Given the description of an element on the screen output the (x, y) to click on. 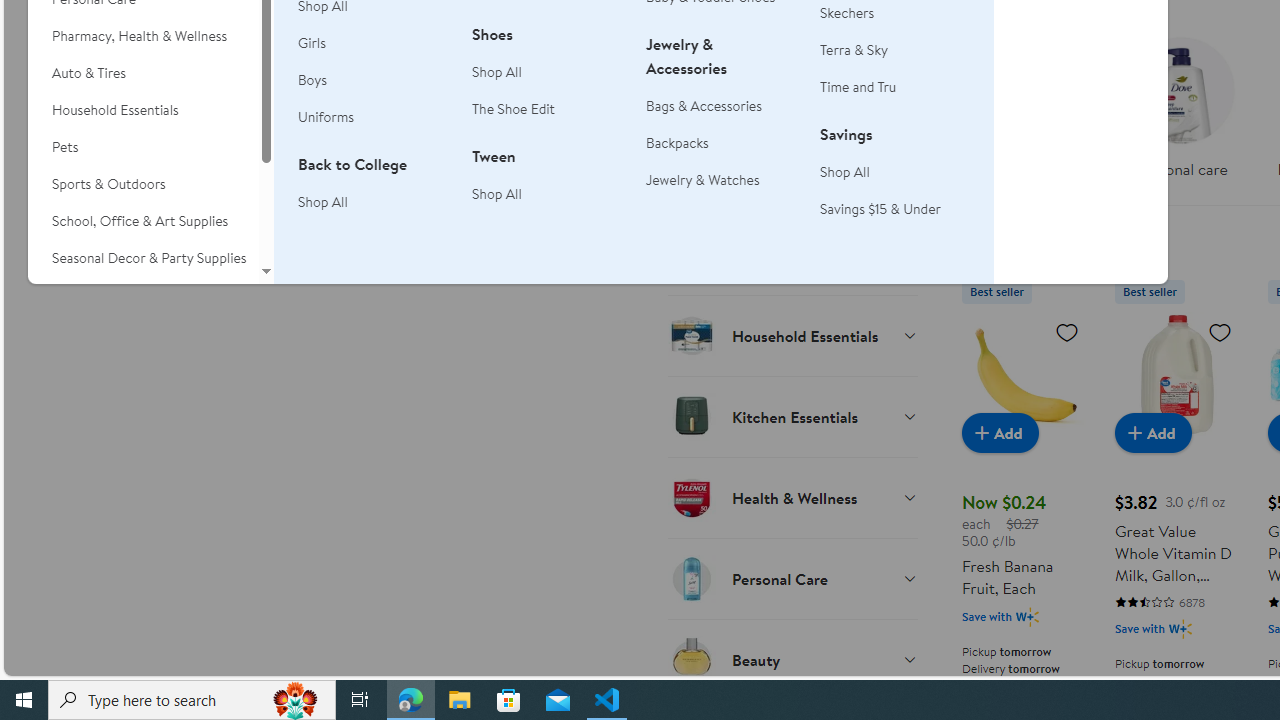
Shop All (895, 172)
Grab & Go (792, 254)
The Shoe Edit (513, 108)
Time and Tru (858, 87)
Pets (143, 147)
Terra & Sky (895, 50)
TweenShop All (547, 186)
Jewelry & Watches (703, 179)
Girls (312, 43)
Movies, Music & Books (143, 295)
Walmart Plus (1179, 628)
